Given the description of an element on the screen output the (x, y) to click on. 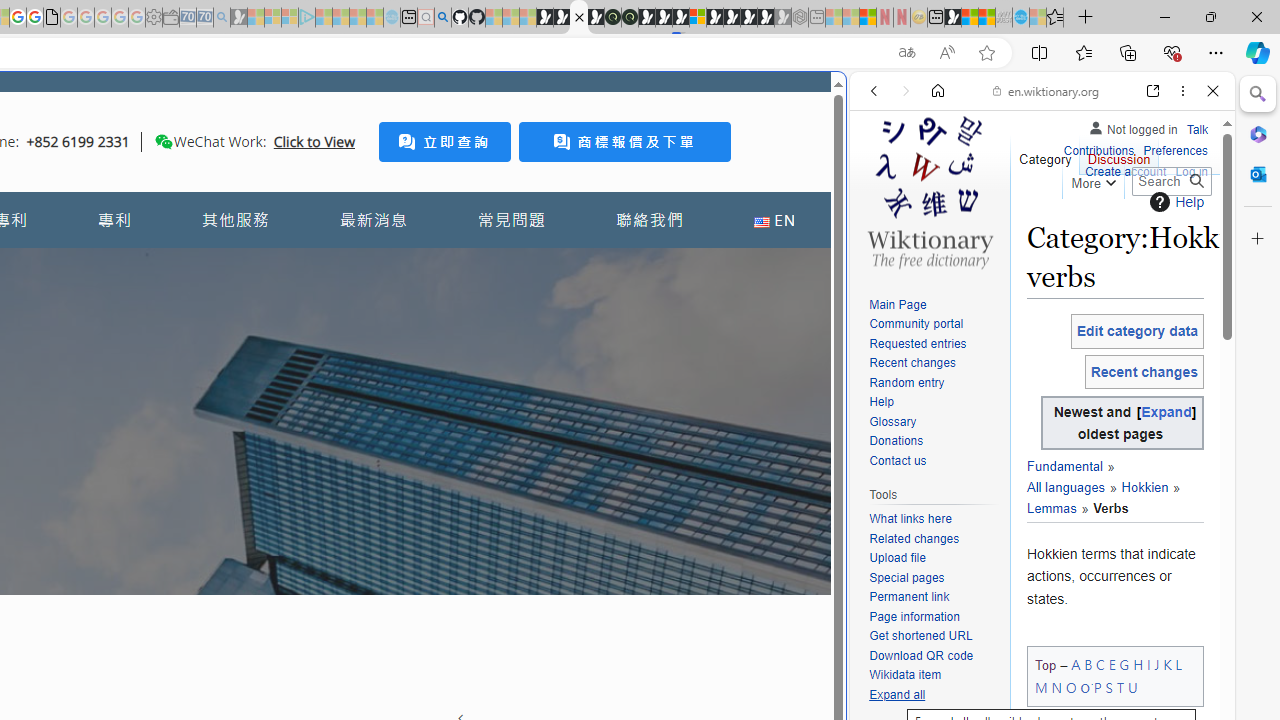
G (1124, 664)
I (1147, 664)
E (1112, 664)
Main Page (897, 303)
